Given the description of an element on the screen output the (x, y) to click on. 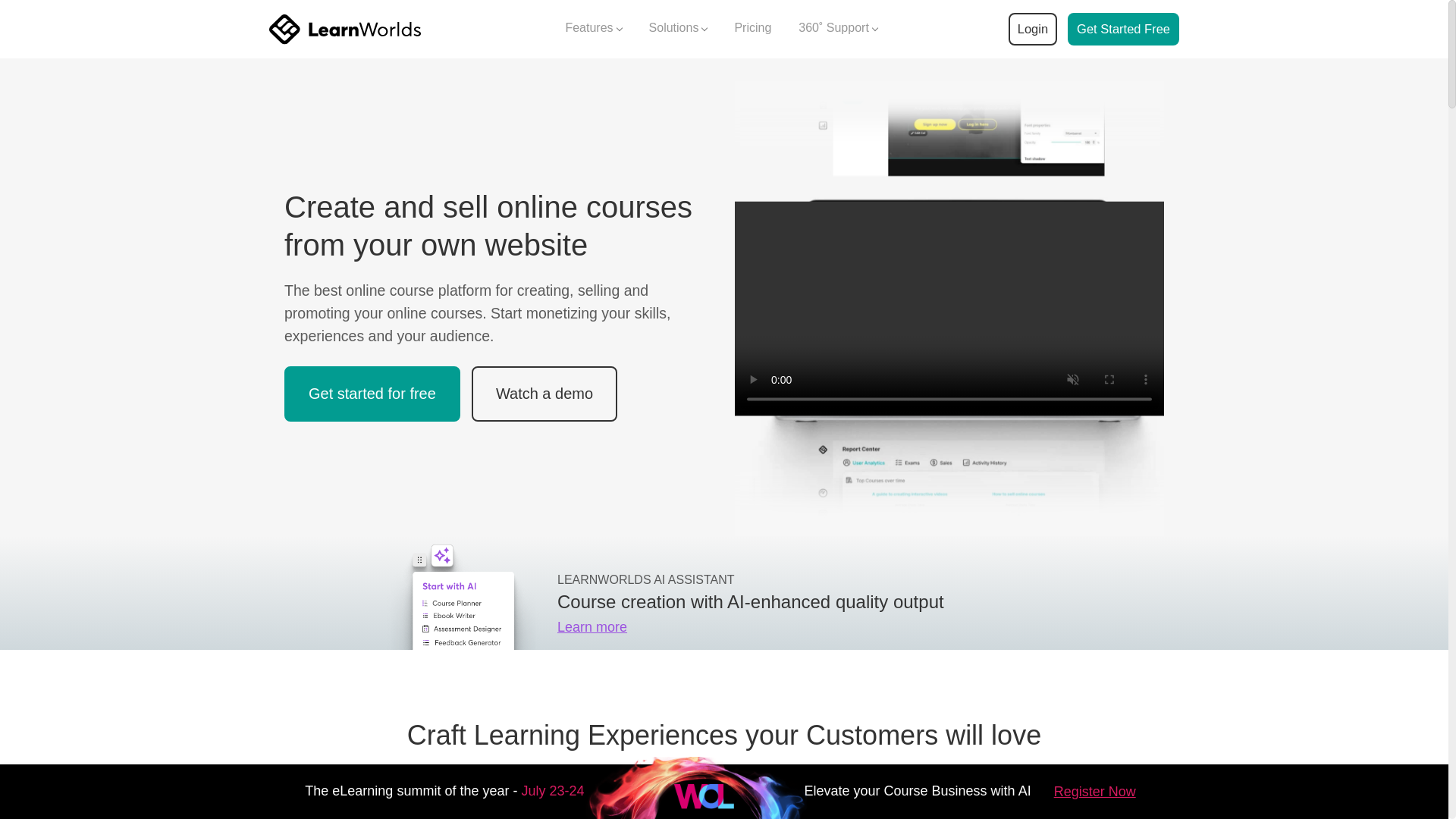
Features (592, 29)
Login to your LearnWorlds account (1032, 29)
LearnWorlds home (344, 28)
Chat (1417, 691)
Start your demo with LearnWorlds (1123, 29)
